Given the description of an element on the screen output the (x, y) to click on. 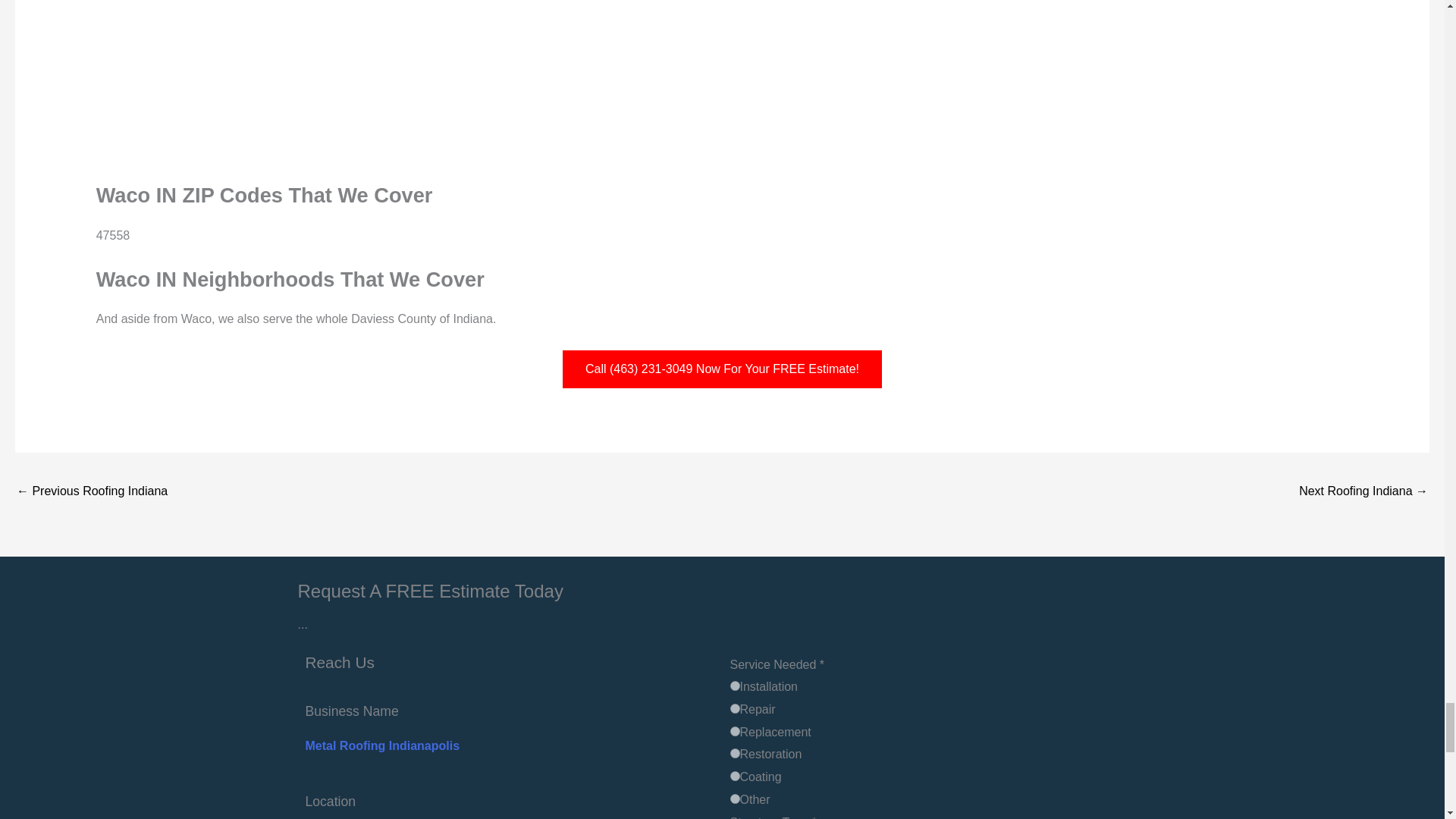
Repair (734, 708)
Restoration (734, 753)
Installation (734, 685)
Other (734, 798)
Coating (734, 776)
Replacement (734, 731)
